Given the description of an element on the screen output the (x, y) to click on. 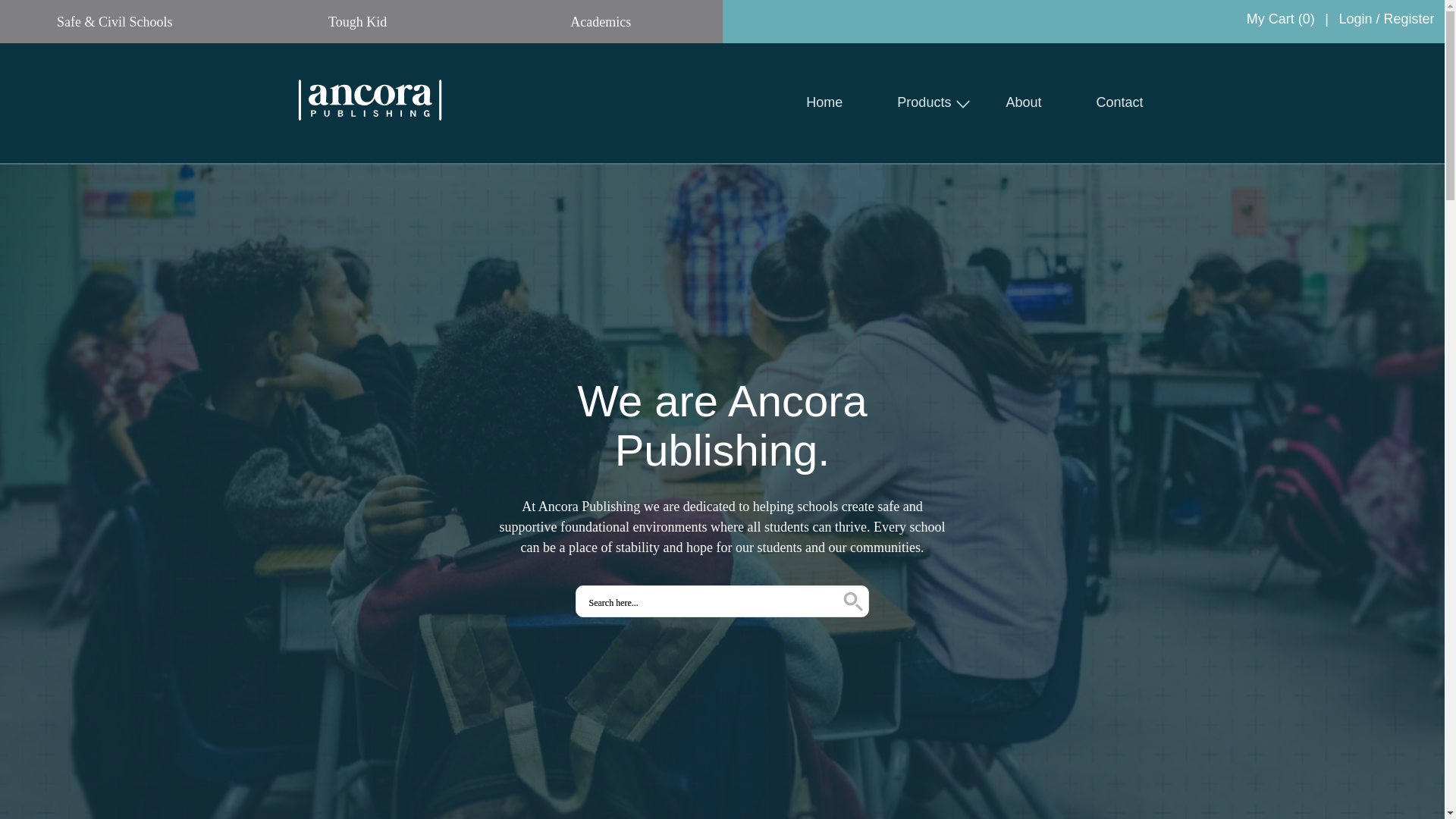
Products (923, 102)
View Cart (1280, 18)
About (1023, 102)
Home (824, 102)
Academics (600, 21)
Products (923, 102)
Tough Kid (357, 21)
Home (824, 102)
Contact (1119, 102)
